Given the description of an element on the screen output the (x, y) to click on. 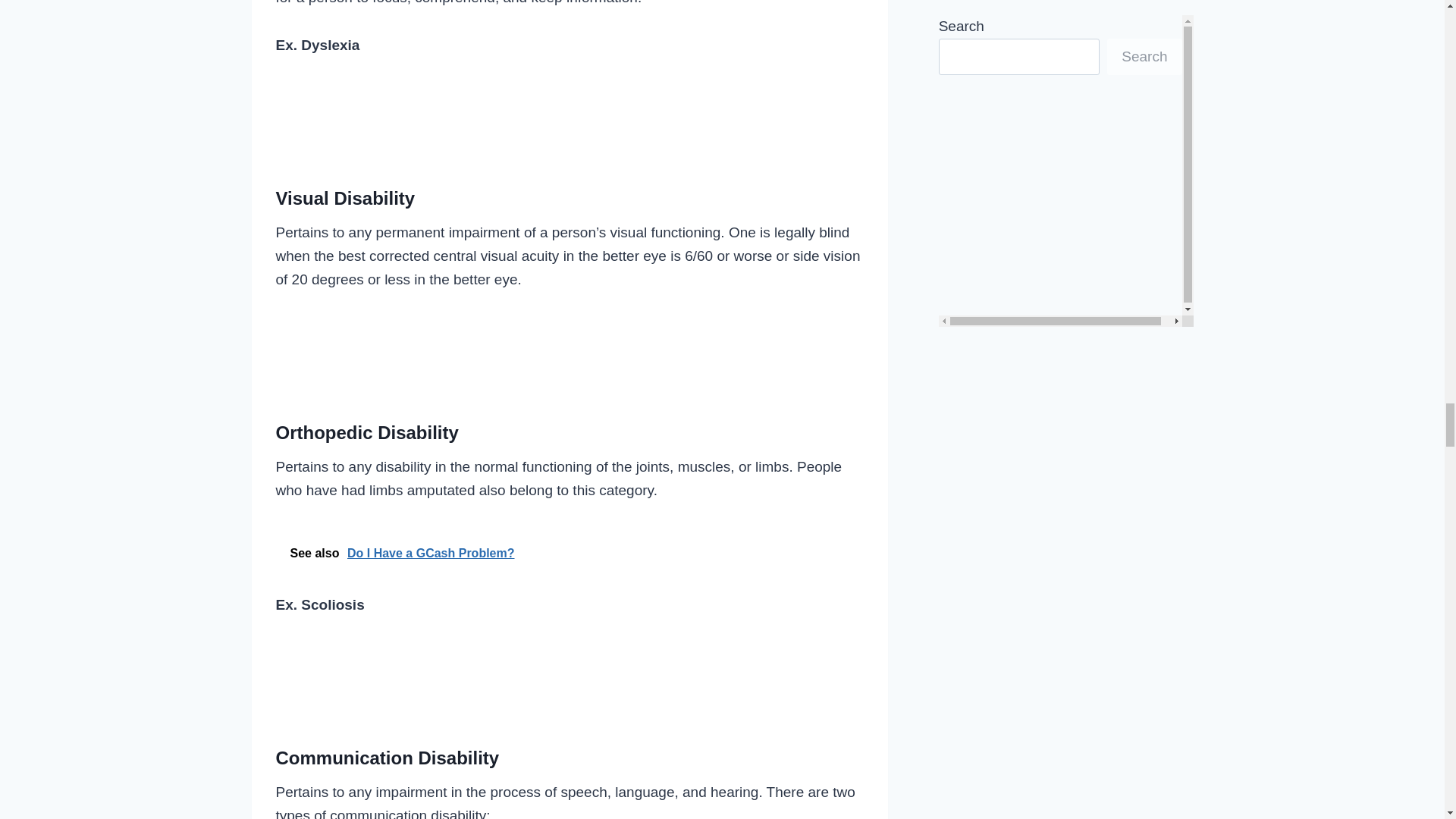
See also  Do I Have a GCash Problem? (570, 553)
